Given the description of an element on the screen output the (x, y) to click on. 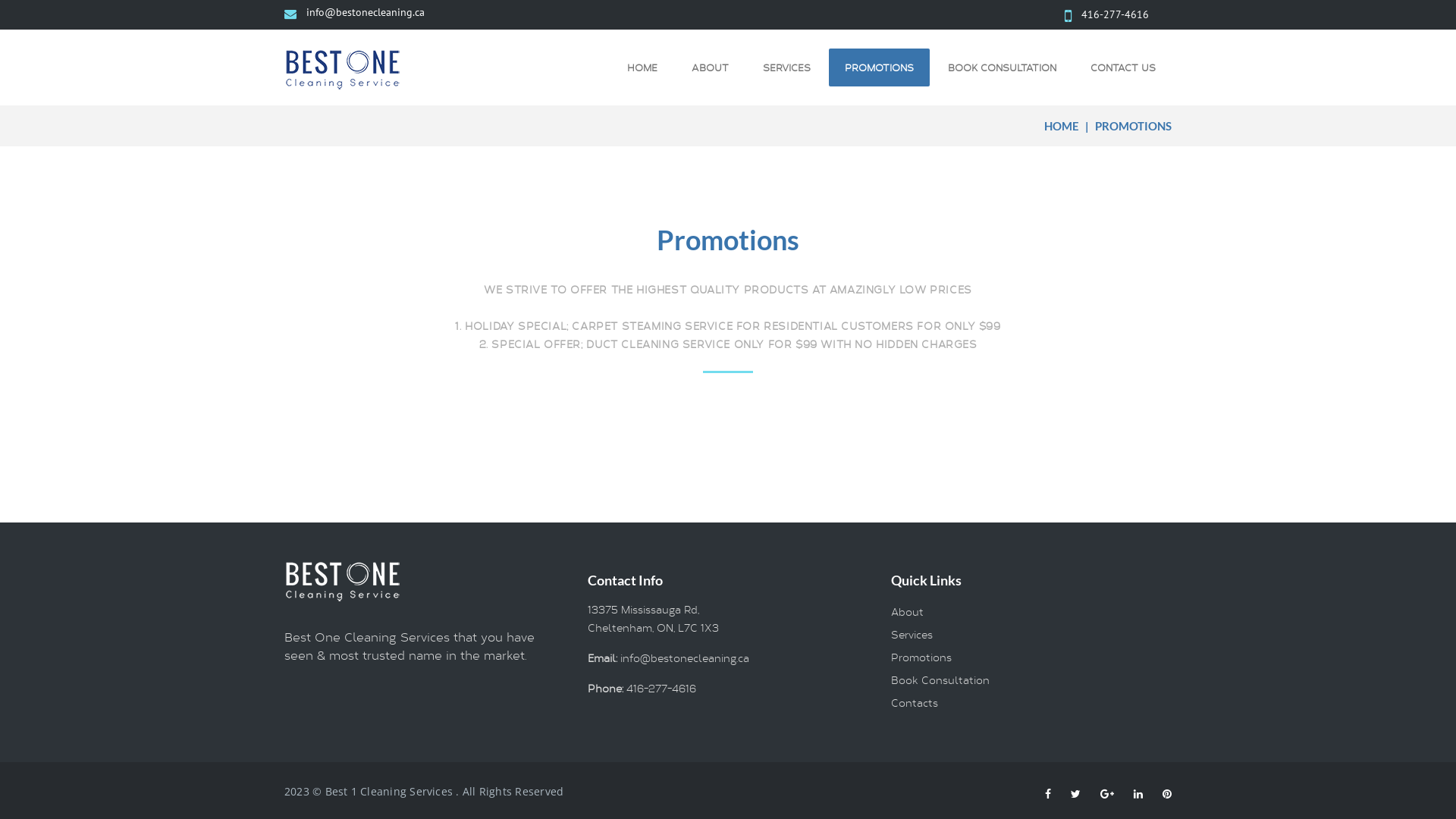
PROMOTIONS Element type: text (878, 67)
Contacts Element type: text (914, 702)
ABOUT Element type: text (709, 67)
SERVICES Element type: text (786, 67)
BOOK CONSULTATION Element type: text (1001, 67)
Linkedin Element type: hover (1137, 793)
416-277-4616 Element type: text (659, 687)
Facebook Element type: hover (1047, 793)
info@bestonecleaning.ca Element type: text (683, 657)
About Element type: text (907, 611)
HOME Element type: text (1061, 125)
HOME Element type: text (642, 67)
CONTACT US Element type: text (1122, 67)
Book Consultation Element type: text (940, 679)
Pinterest Element type: hover (1166, 793)
Google+ Element type: hover (1106, 793)
WASHER Co Element type: hover (346, 68)
Services Element type: text (911, 634)
info@bestonecleaning.ca Element type: text (365, 11)
Twitter Element type: hover (1075, 793)
Promotions Element type: text (921, 656)
416-277-4616 Element type: text (1114, 14)
